Given the description of an element on the screen output the (x, y) to click on. 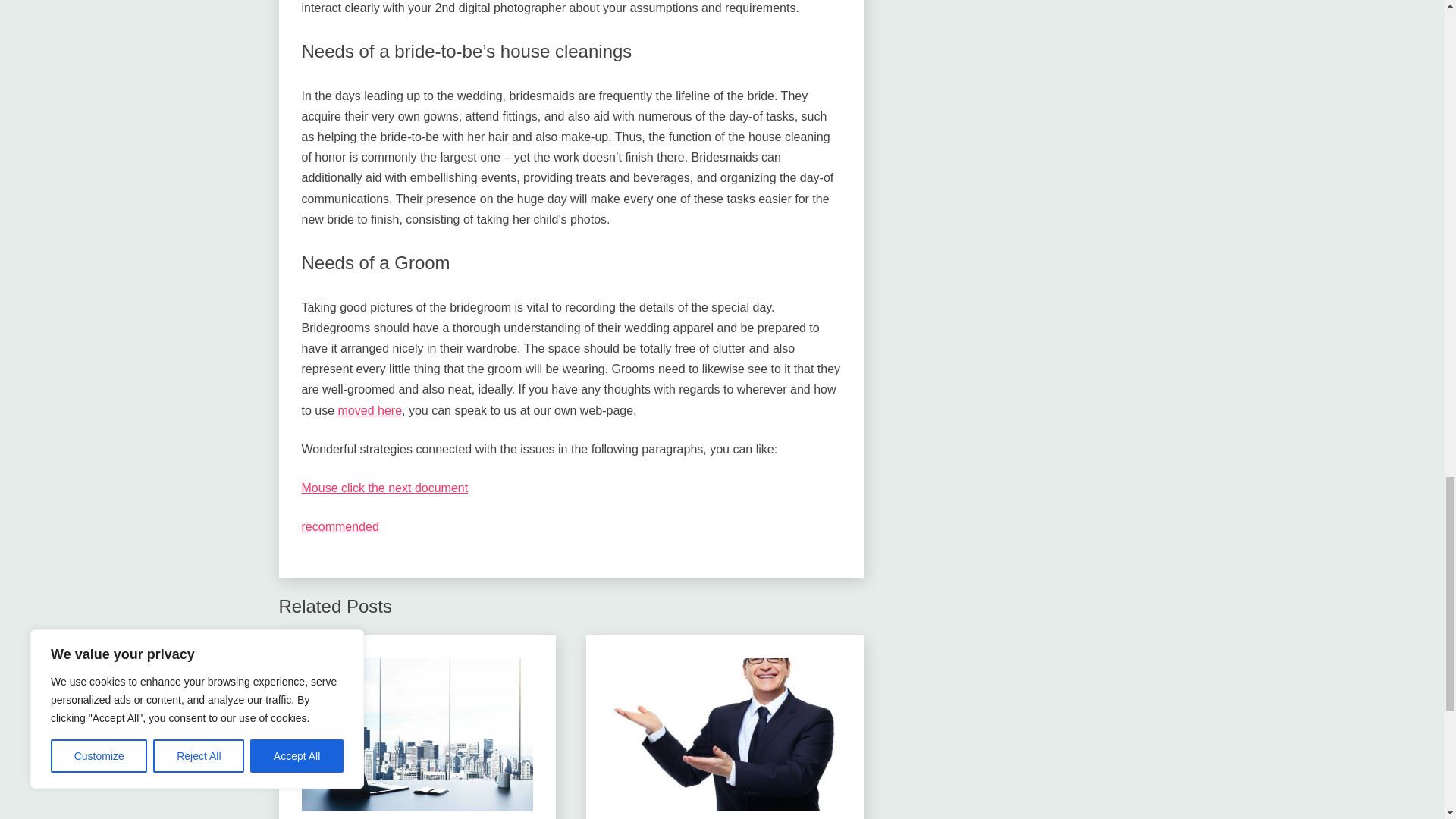
recommended (339, 526)
Mouse click the next document (384, 487)
moved here (370, 410)
